Given the description of an element on the screen output the (x, y) to click on. 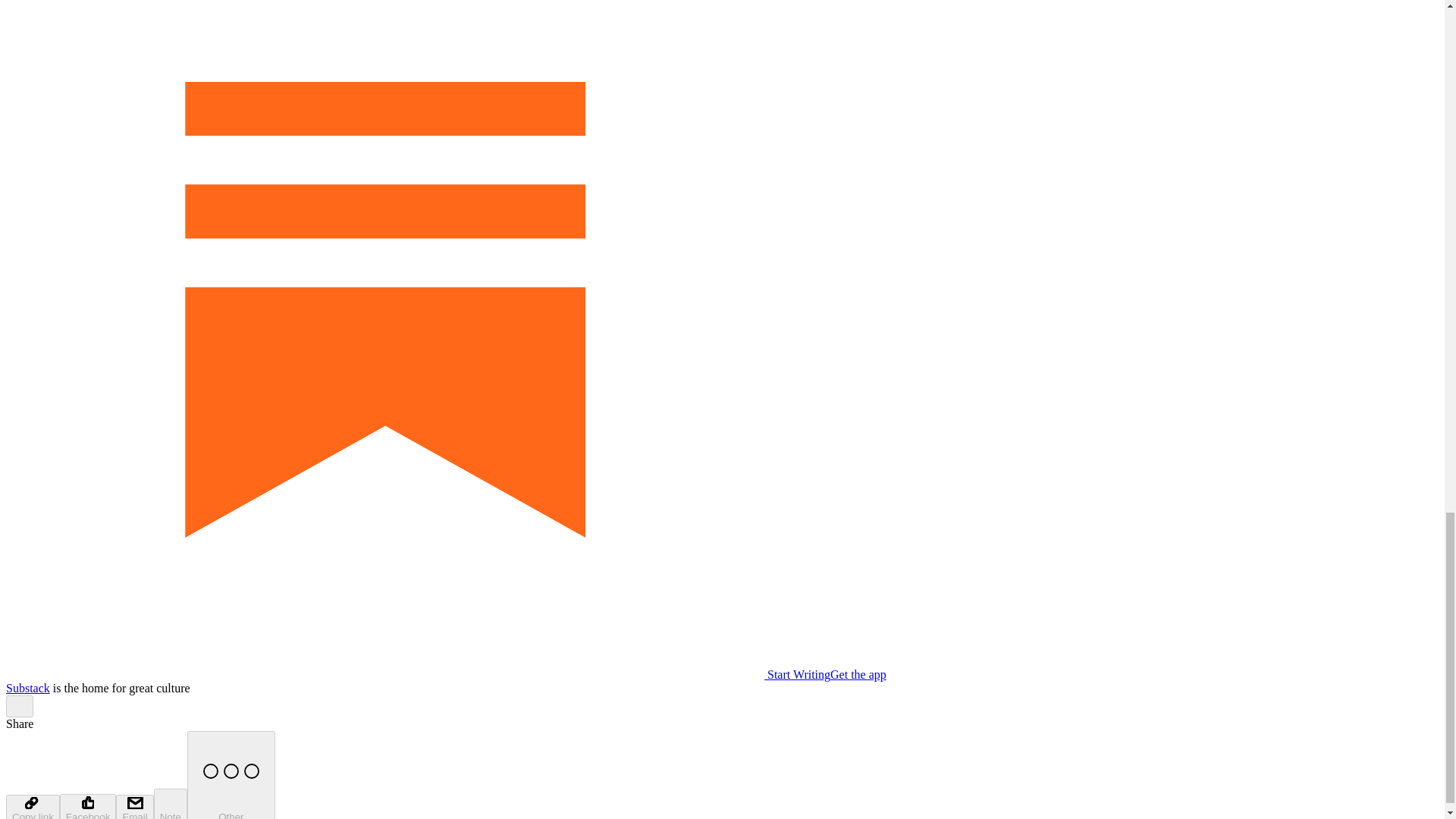
Start Writing (417, 674)
Get the app (857, 674)
